Given the description of an element on the screen output the (x, y) to click on. 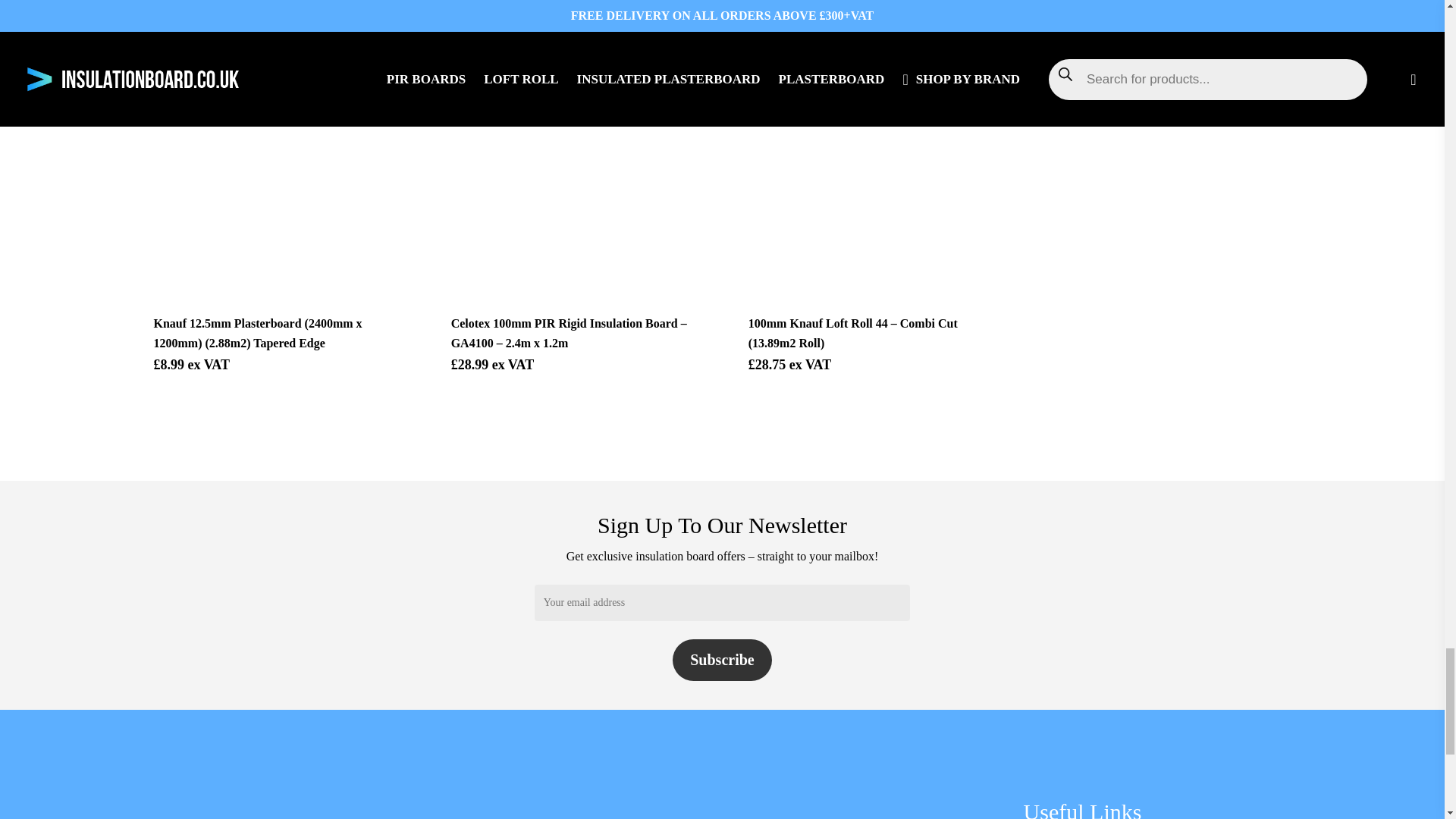
Subscribe (721, 659)
